Given the description of an element on the screen output the (x, y) to click on. 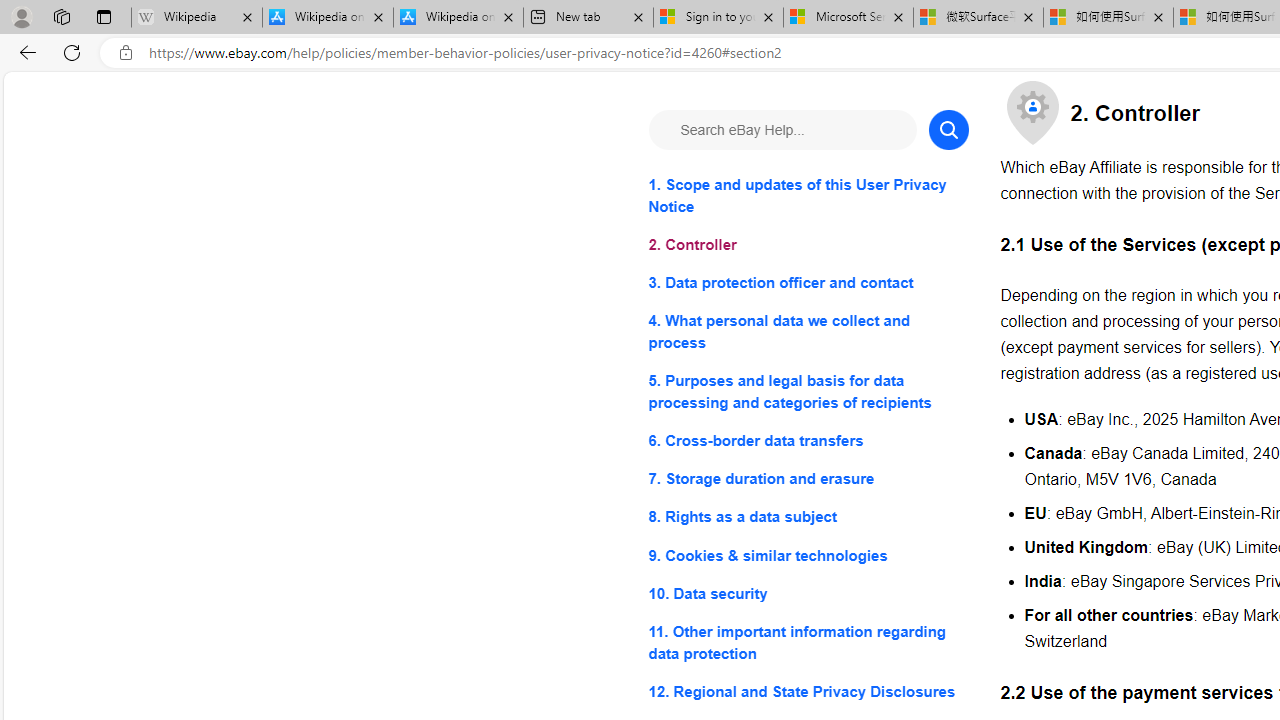
Search eBay Help... (781, 129)
4. What personal data we collect and process (807, 332)
7. Storage duration and erasure (807, 479)
1. Scope and updates of this User Privacy Notice (807, 196)
10. Data security (807, 592)
2. Controller (807, 245)
